Given the description of an element on the screen output the (x, y) to click on. 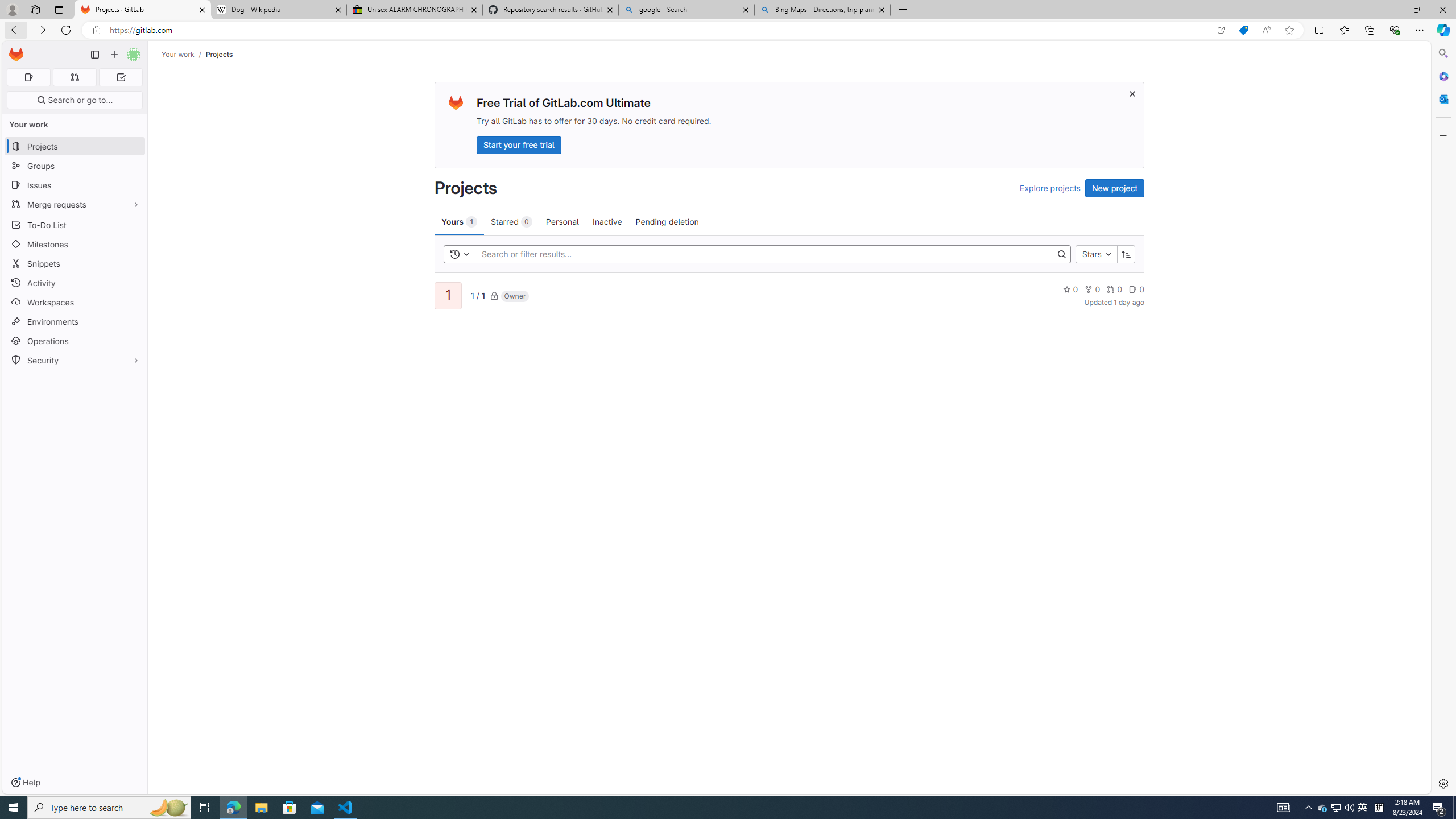
Issues (74, 185)
Merge requests (74, 203)
Operations (74, 340)
Inactive (606, 221)
Class: s16 (494, 295)
Your work/ (183, 53)
To-Do List (74, 224)
Snippets (74, 262)
Projects (218, 53)
Homepage (16, 54)
